Given the description of an element on the screen output the (x, y) to click on. 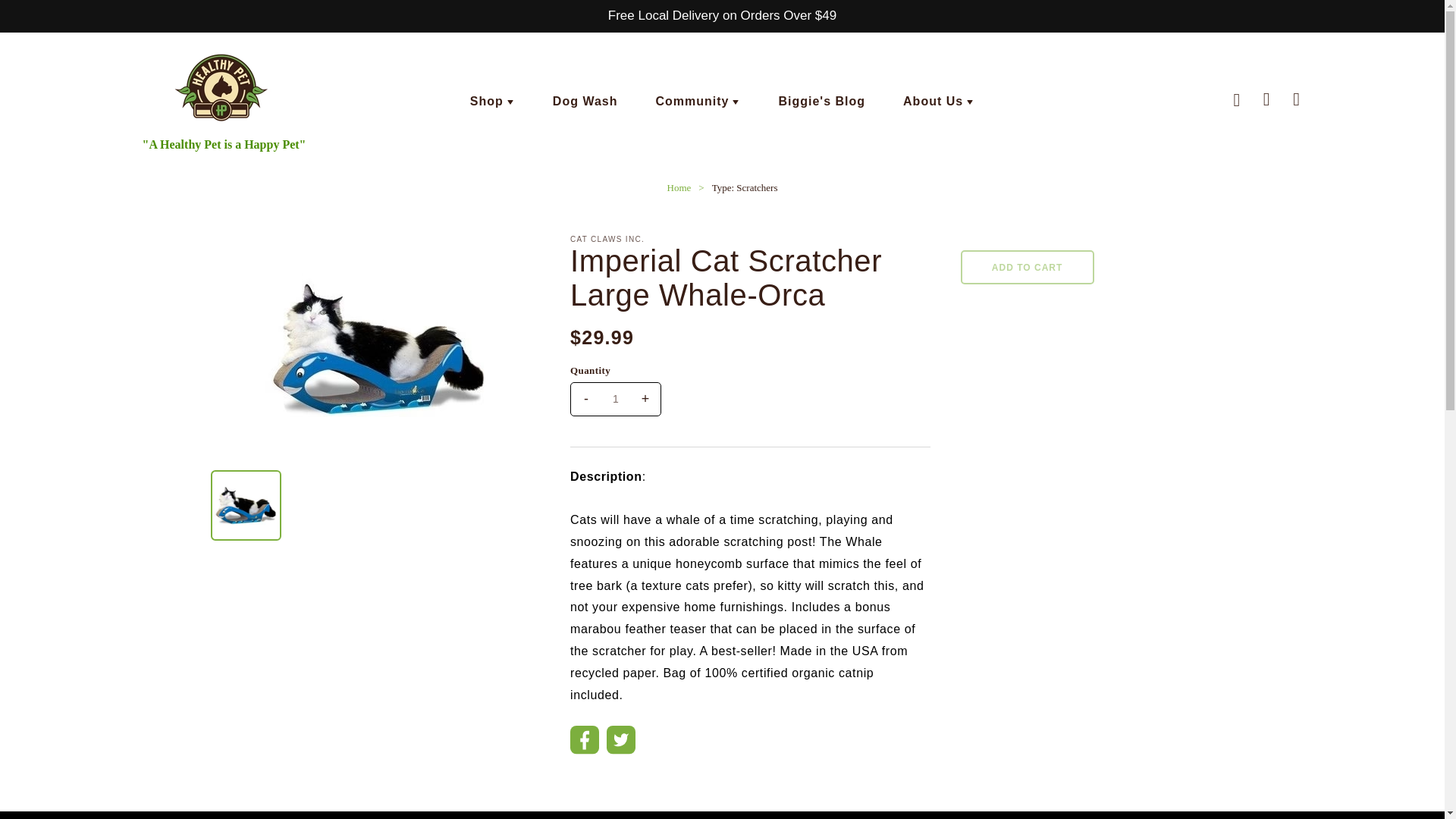
Skip to content (45, 16)
Dog Wash (585, 101)
Imperial Cat Scratcher Large Whale-Orca (378, 348)
Biggie's Blog (820, 101)
Cart (1296, 101)
Imperial Cat Scratcher Large Whale-Orca (246, 505)
Log in (1266, 101)
